Given the description of an element on the screen output the (x, y) to click on. 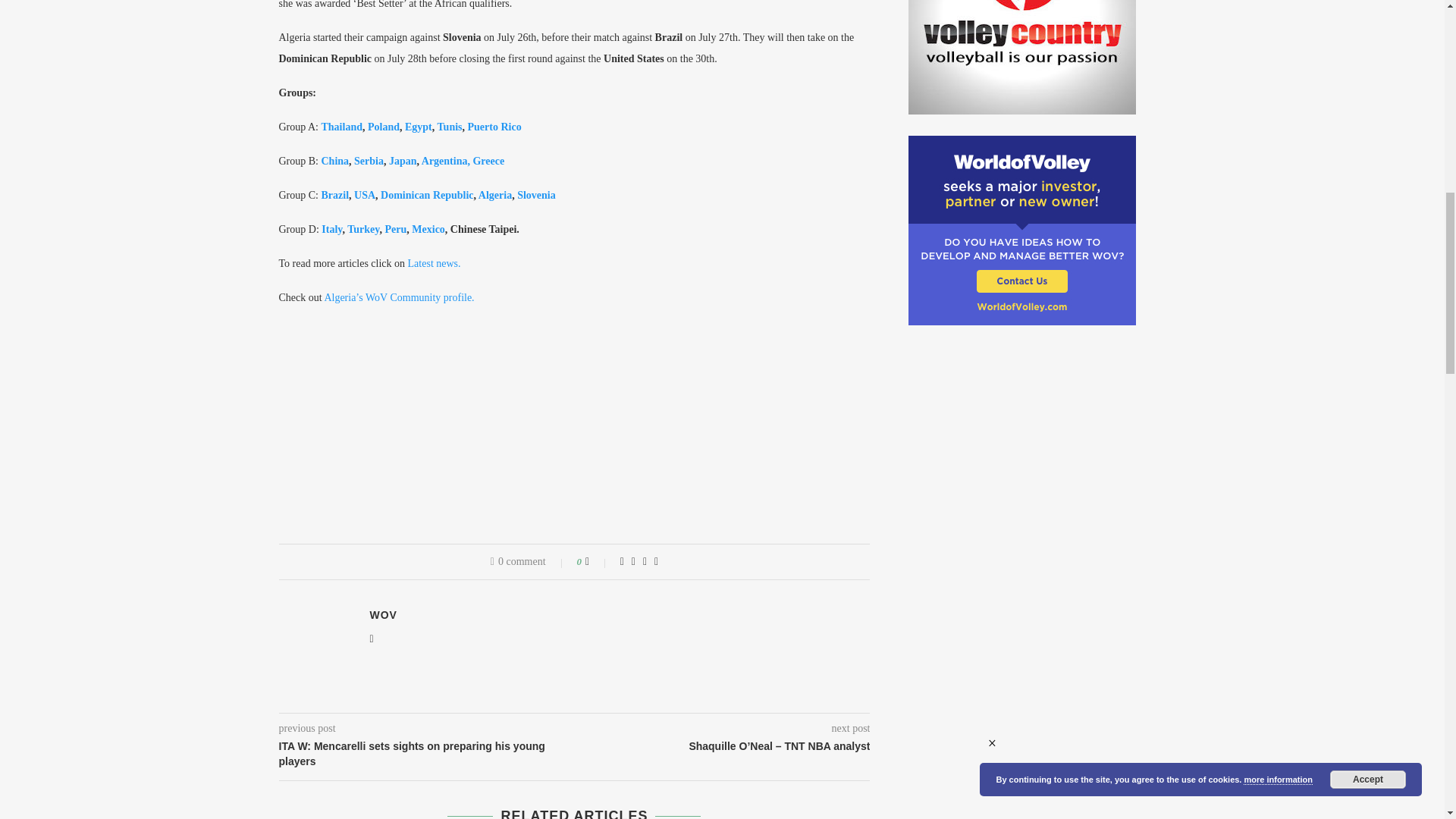
Posts by WoV (383, 614)
Like (597, 562)
